Given the description of an element on the screen output the (x, y) to click on. 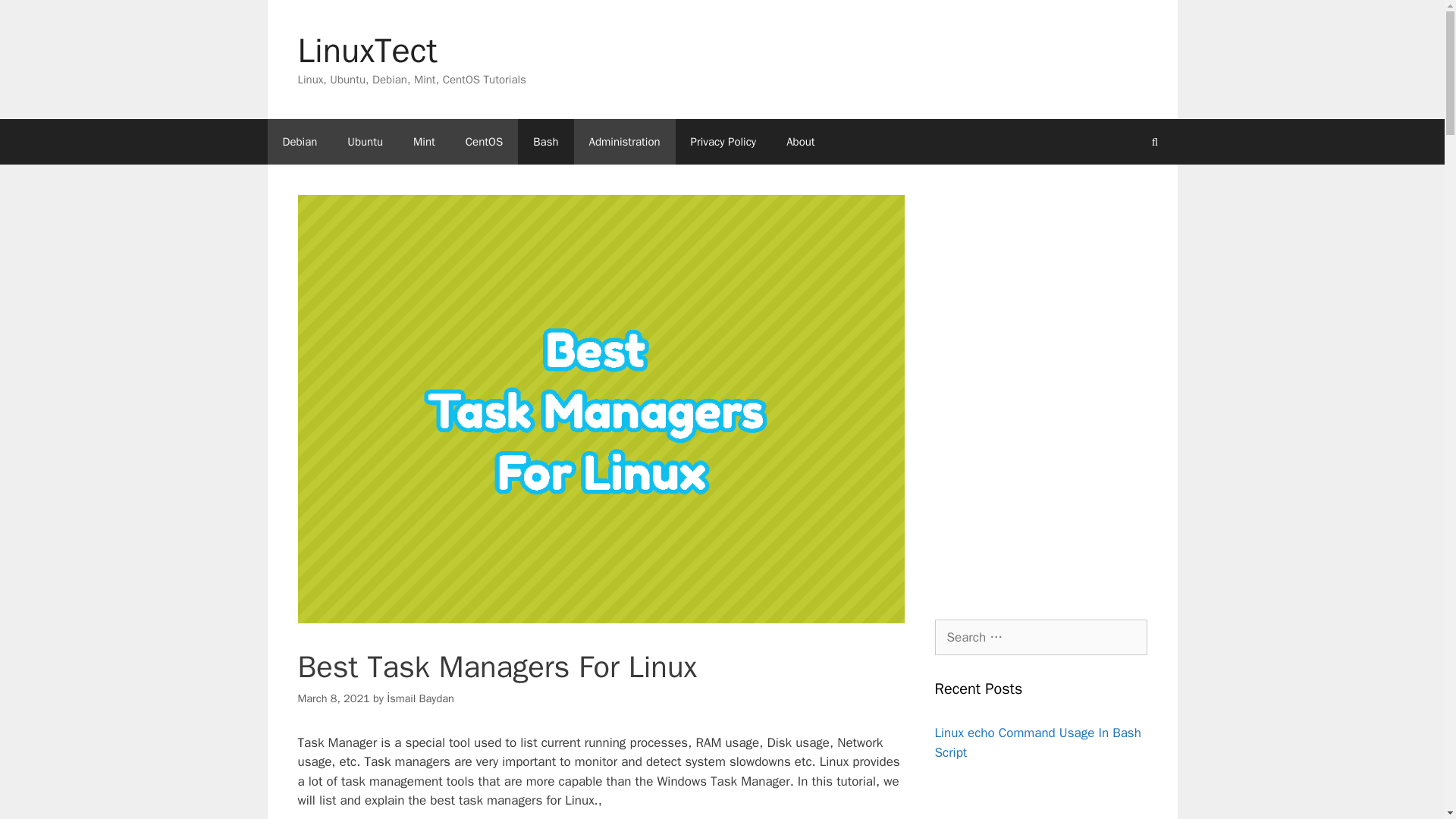
Administration (624, 140)
About (800, 140)
Mint (423, 140)
Search (35, 18)
LinuxTect (366, 50)
Privacy Policy (723, 140)
CentOS (483, 140)
Linux echo Command Usage In Bash Script (1037, 742)
Bash (545, 140)
Debian (298, 140)
Ubuntu (364, 140)
Search for: (1040, 637)
